Given the description of an element on the screen output the (x, y) to click on. 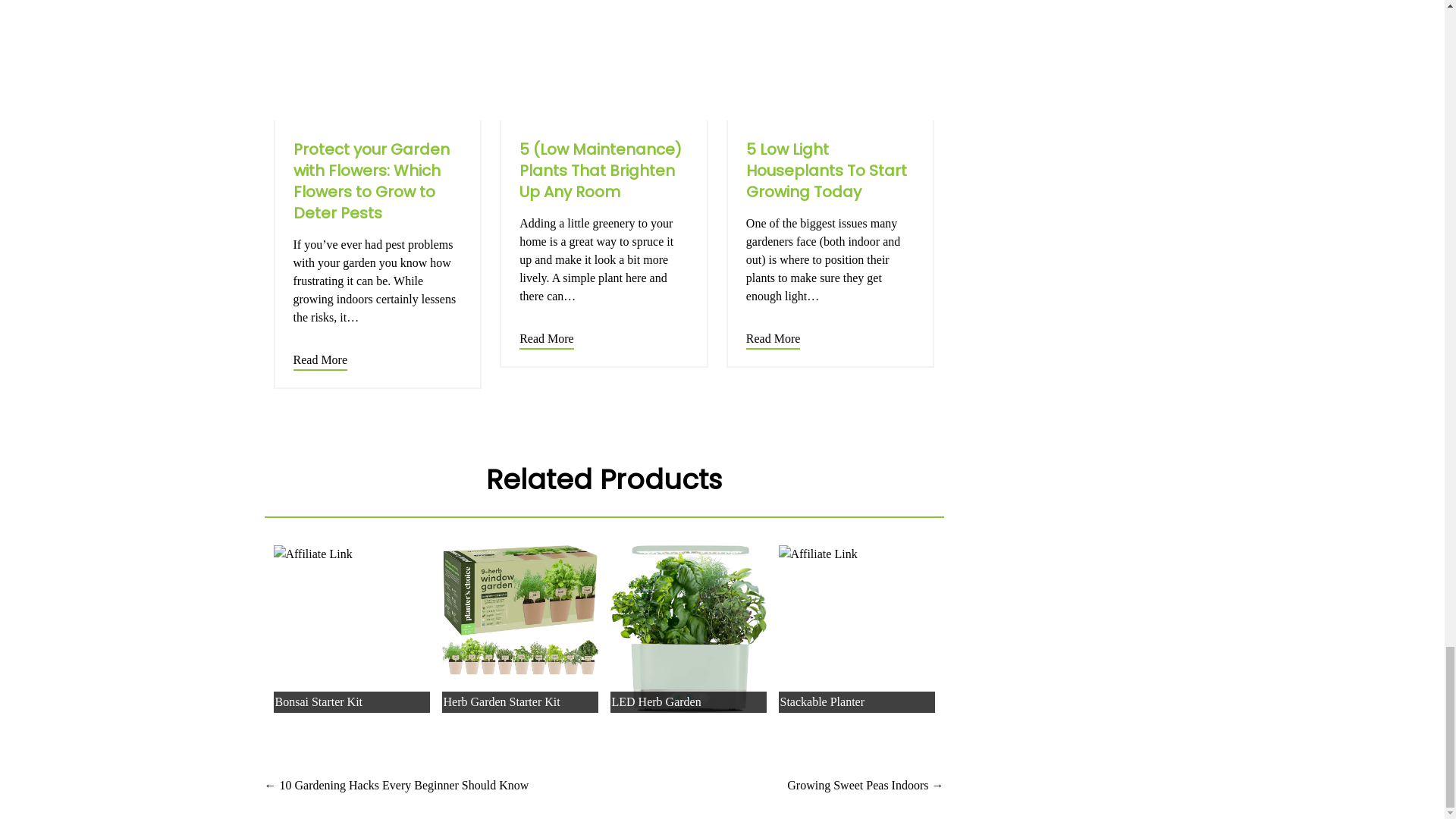
Bonsai Starter Kit (351, 554)
Read More (772, 340)
Herb Garden Starter Kit (518, 609)
Read More (546, 340)
Read More (319, 361)
LED Herb Garden (687, 628)
